Given the description of an element on the screen output the (x, y) to click on. 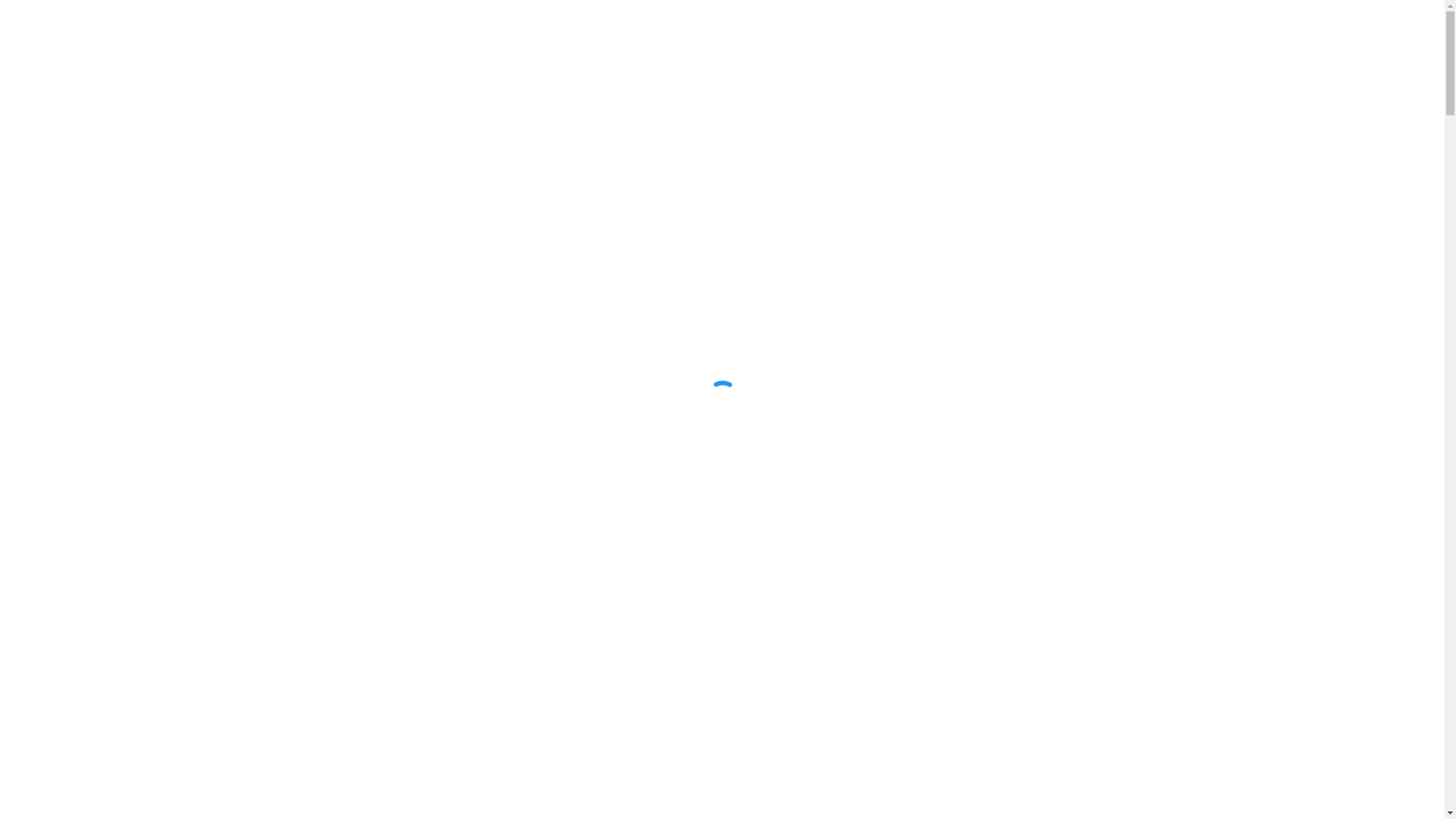
CONTACT Element type: text (1129, 32)
CAREER Element type: text (1068, 32)
TESTIMONIALS Element type: text (993, 32)
Scroll Down Element type: text (722, 762)
PORTFOLIO Element type: text (840, 32)
SKILLS Element type: text (779, 32)
PRODUCTS Element type: text (912, 32)
SERVICES Element type: text (721, 32)
